Given the description of an element on the screen output the (x, y) to click on. 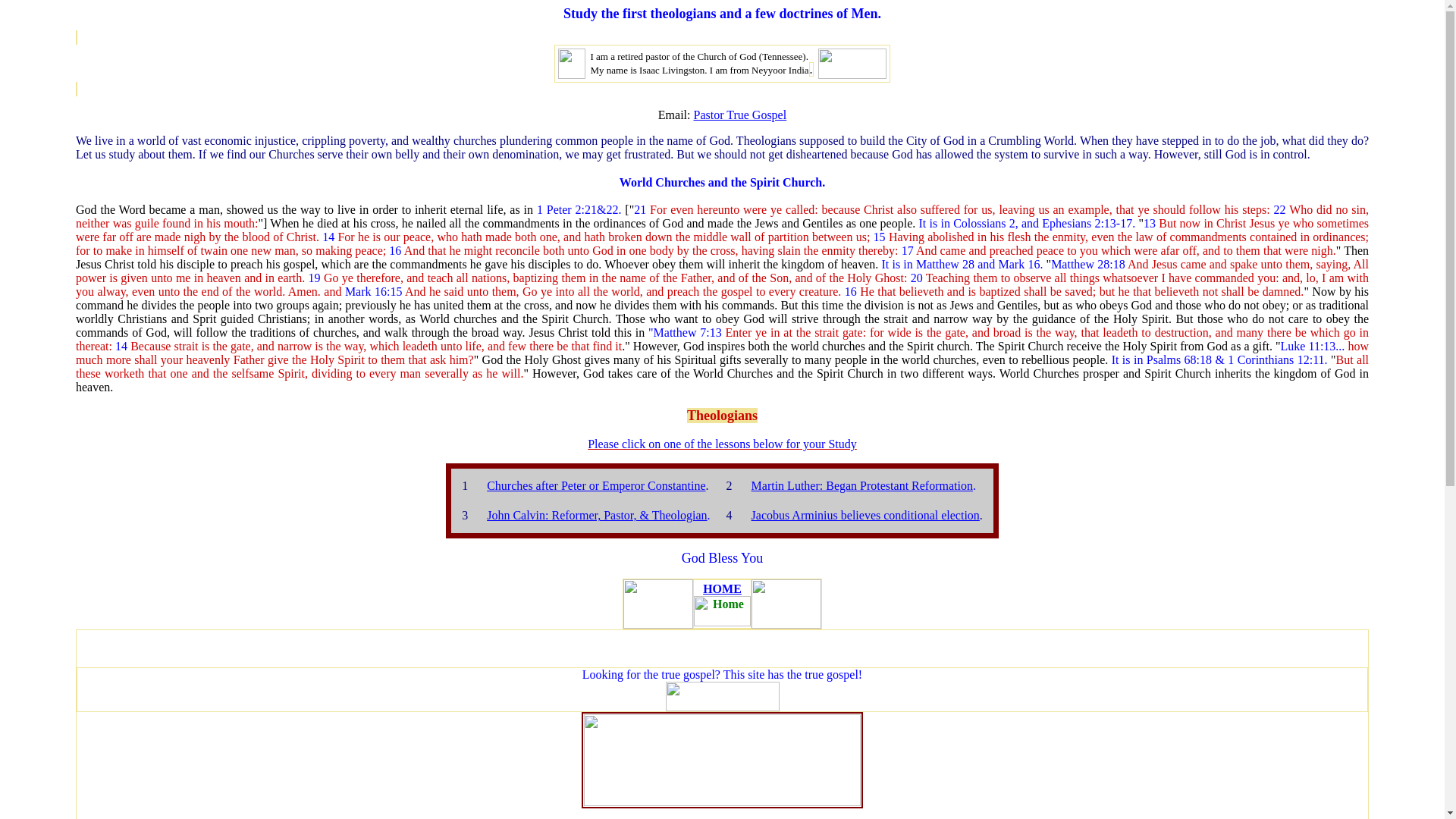
Pastor True Gospel (739, 114)
Churches after Peter or Emperor Constantine (595, 485)
Jacobus Arminius believes conditional election (865, 514)
HOME (722, 588)
Martin Luther: Began Protestant Reformation (861, 485)
